Given the description of an element on the screen output the (x, y) to click on. 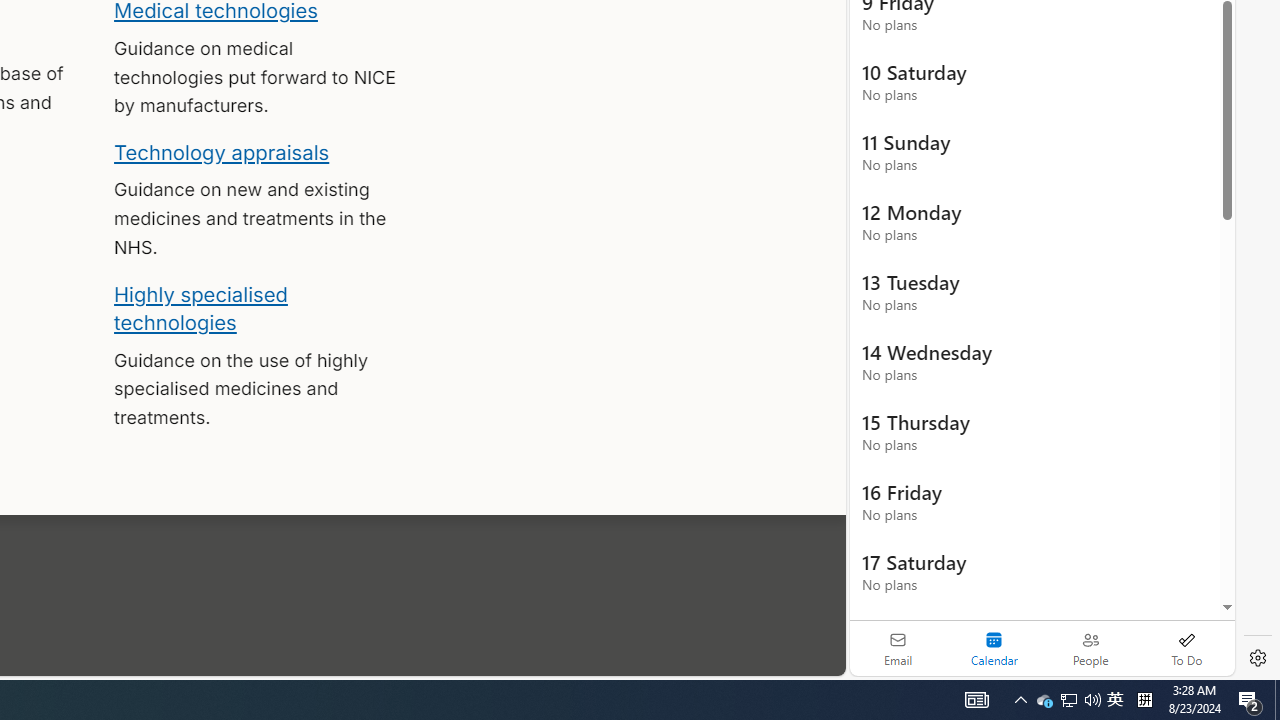
Technology appraisals (221, 152)
Highly specialised technologies (200, 308)
Selected calendar module. Date today is 22 (994, 648)
Email (898, 648)
To Do (1186, 648)
People (1090, 648)
